Given the description of an element on the screen output the (x, y) to click on. 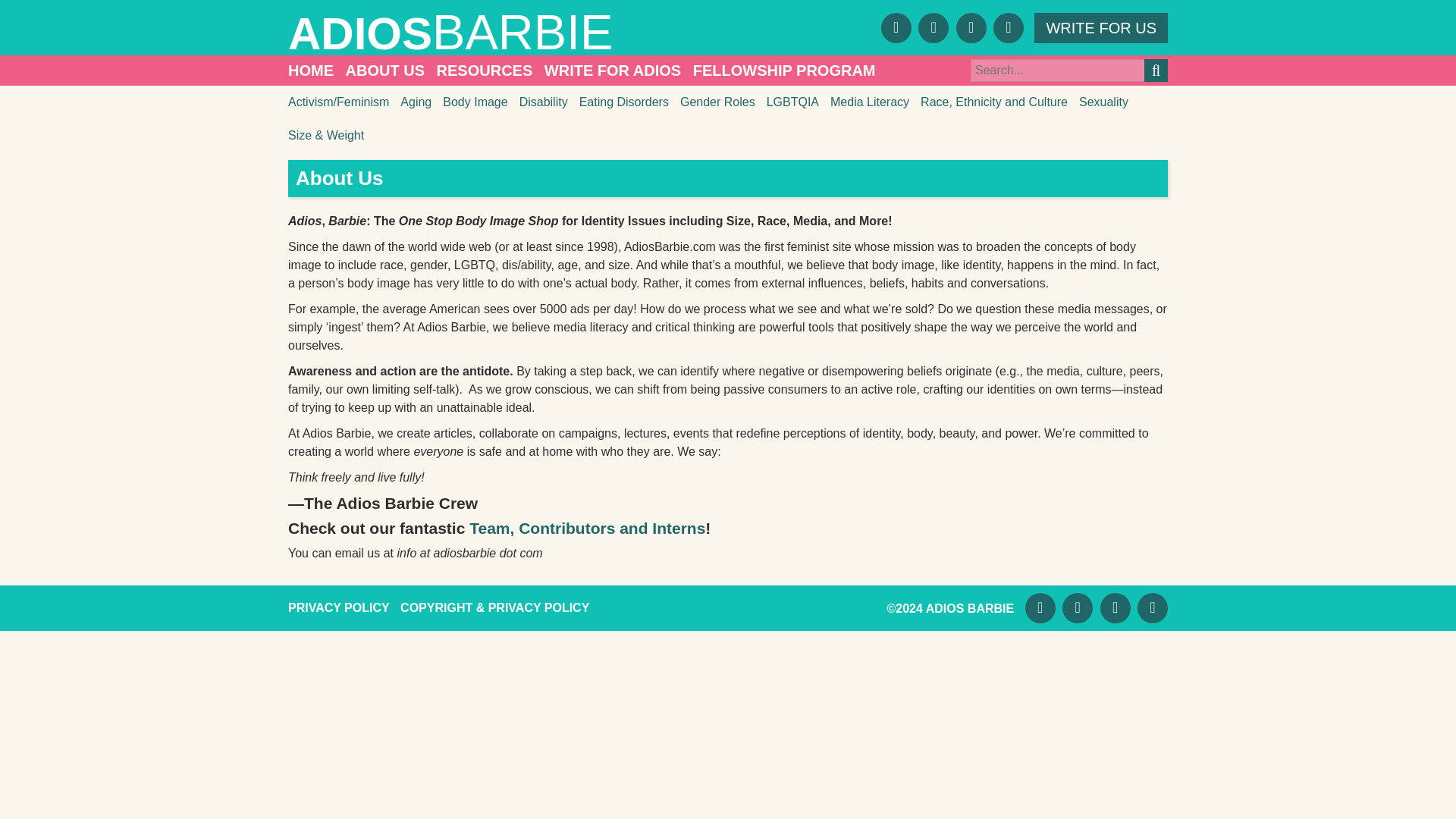
WRITE FOR US (1100, 27)
WRITE FOR ADIOS (612, 70)
PRIVACY POLICY (339, 607)
RESOURCES (484, 70)
Team, Contributors and Interns (586, 528)
ADIOSBARBIE (508, 31)
HOME (310, 70)
ABOUT US (385, 70)
FELLOWSHIP PROGRAM (784, 70)
Our Team (586, 528)
